Given the description of an element on the screen output the (x, y) to click on. 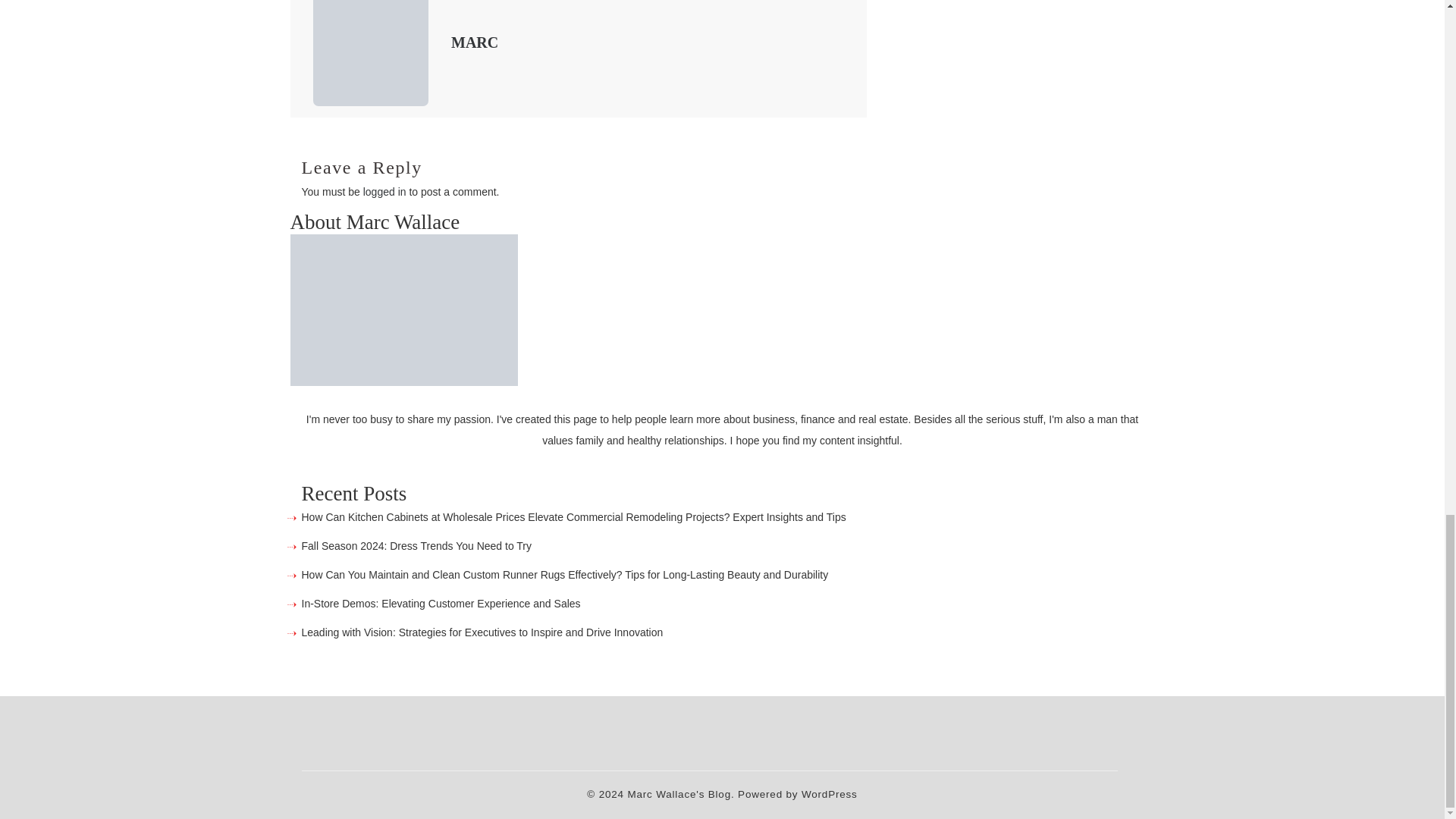
MARC (474, 42)
Powered by WordPress (797, 794)
logged in (384, 191)
In-Store Demos: Elevating Customer Experience and Sales (440, 603)
Marc Wallace's Blog. (680, 794)
Fall Season 2024: Dress Trends You Need to Try (416, 545)
